Given the description of an element on the screen output the (x, y) to click on. 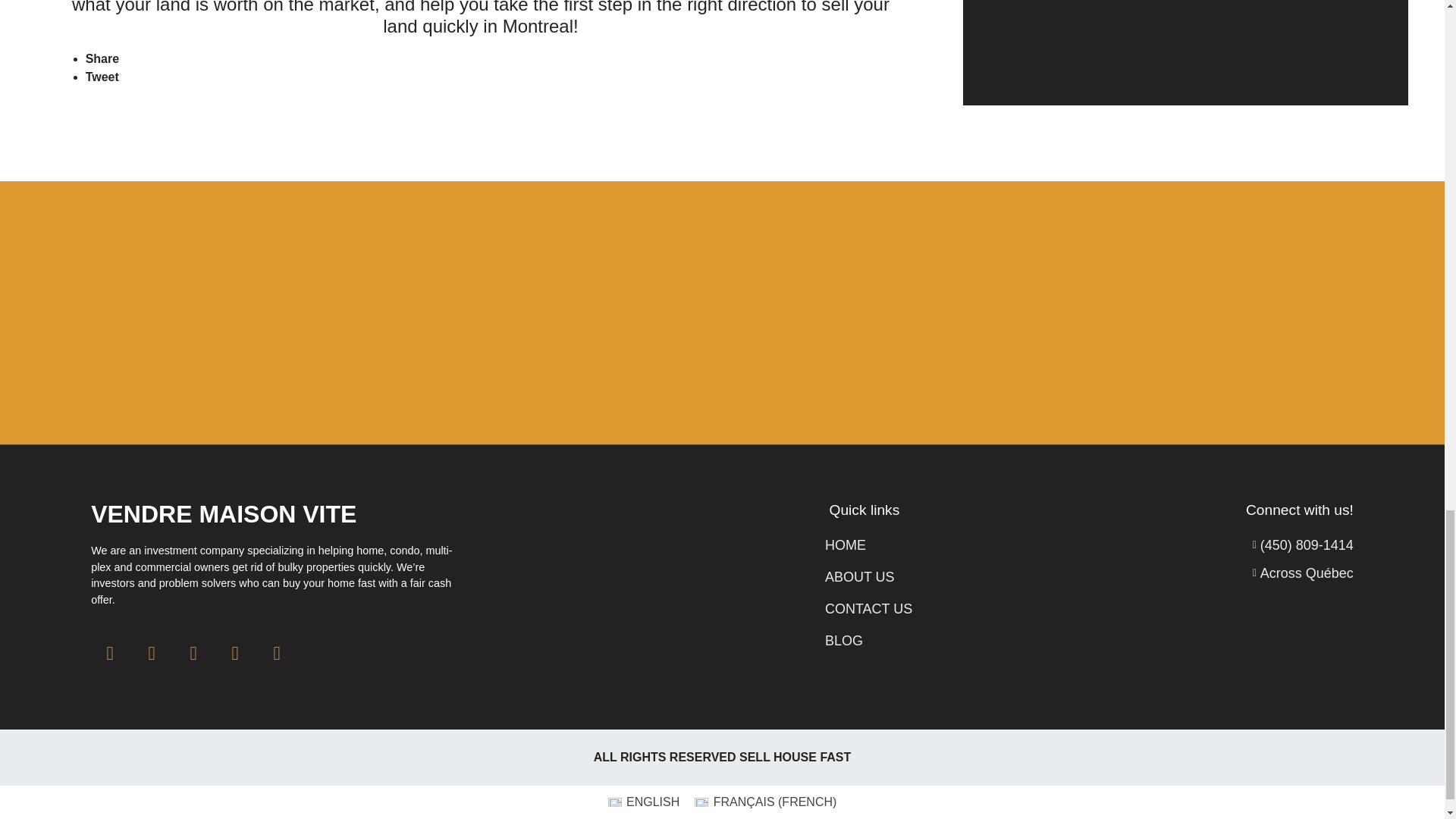
CONTACT US (868, 608)
ABOUT US (868, 577)
VENDRE MAISON VITE (223, 513)
BLOG (868, 640)
HOME (868, 545)
ENGLISH (643, 802)
